Given the description of an element on the screen output the (x, y) to click on. 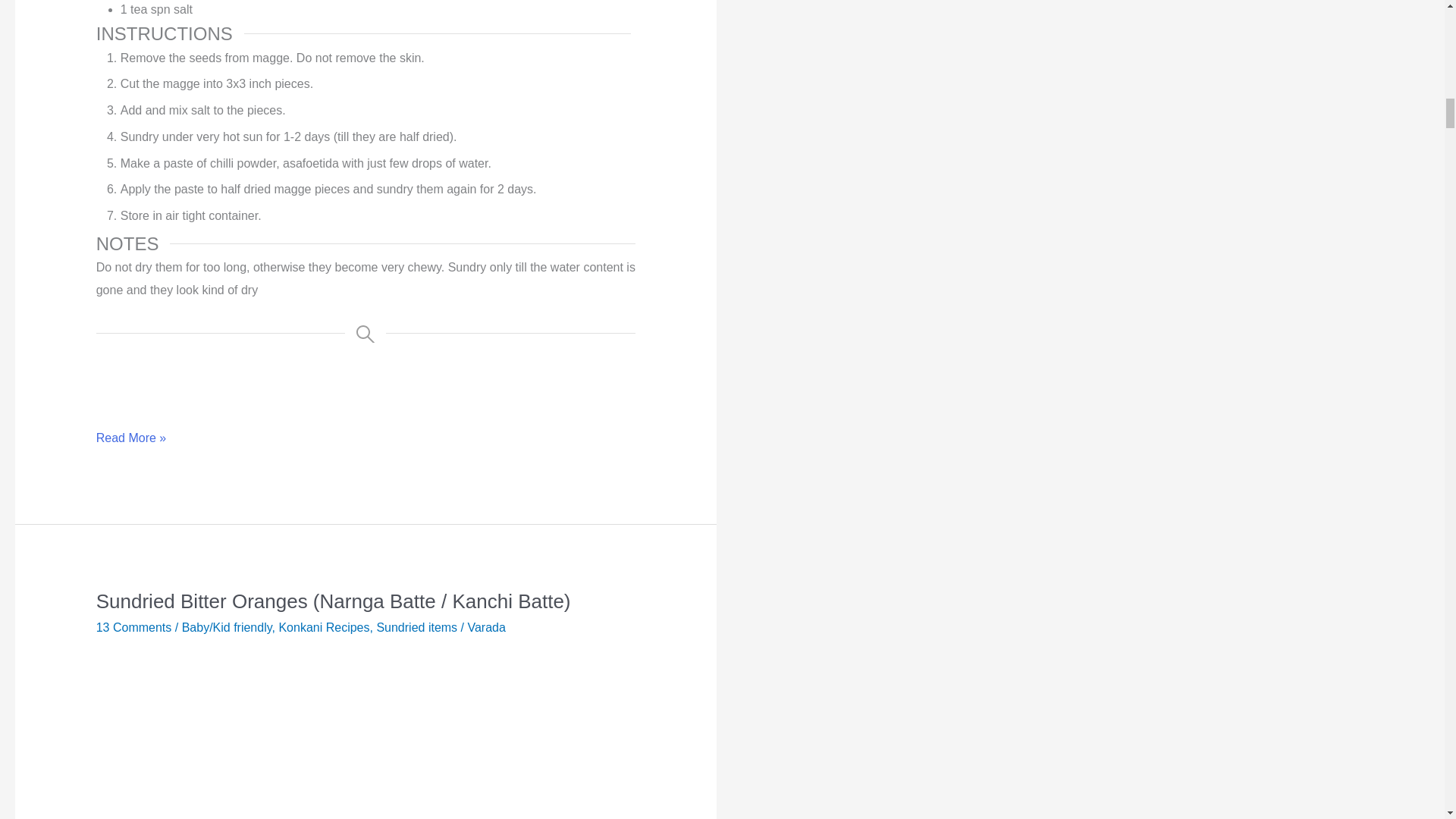
View all posts by Varada (486, 626)
